Given the description of an element on the screen output the (x, y) to click on. 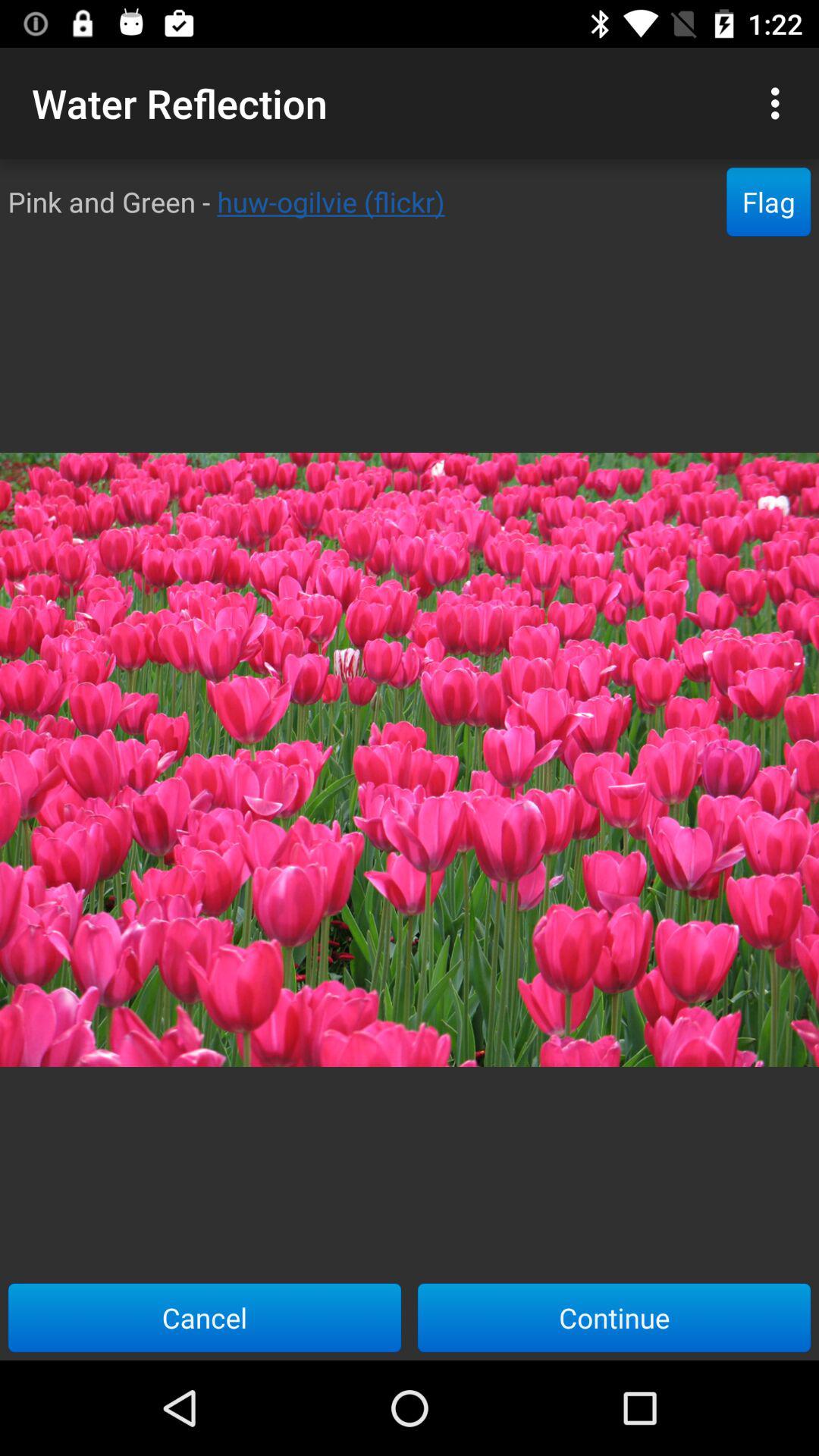
flip to flag (768, 201)
